Given the description of an element on the screen output the (x, y) to click on. 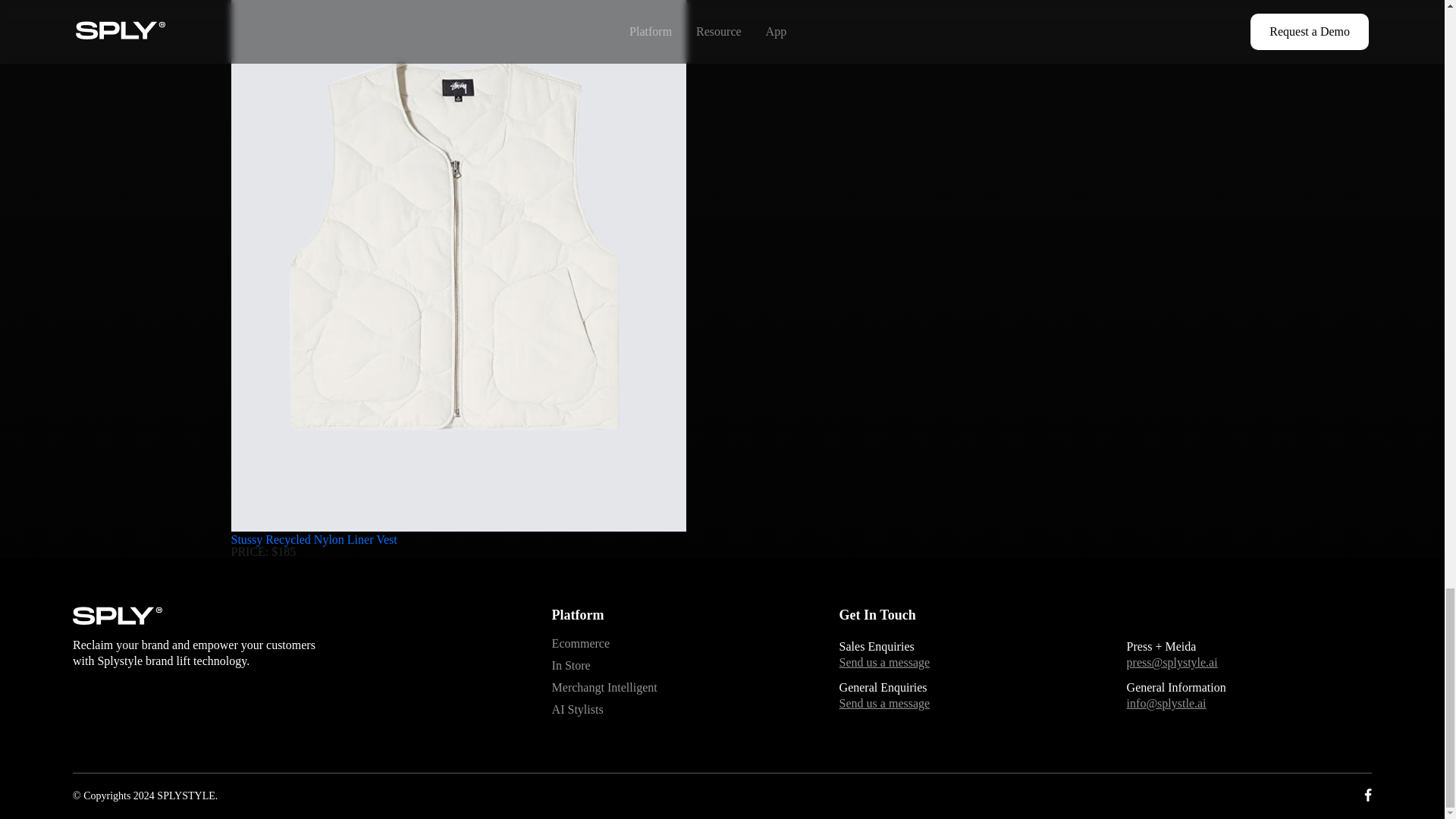
Merchangt Intelligent (673, 688)
AI Stylists (673, 709)
In Store (673, 666)
Send us a message (962, 703)
Send us a message (962, 662)
Ecommerce (673, 643)
Stussy Recycled Nylon Liner Vest (313, 539)
